Given the description of an element on the screen output the (x, y) to click on. 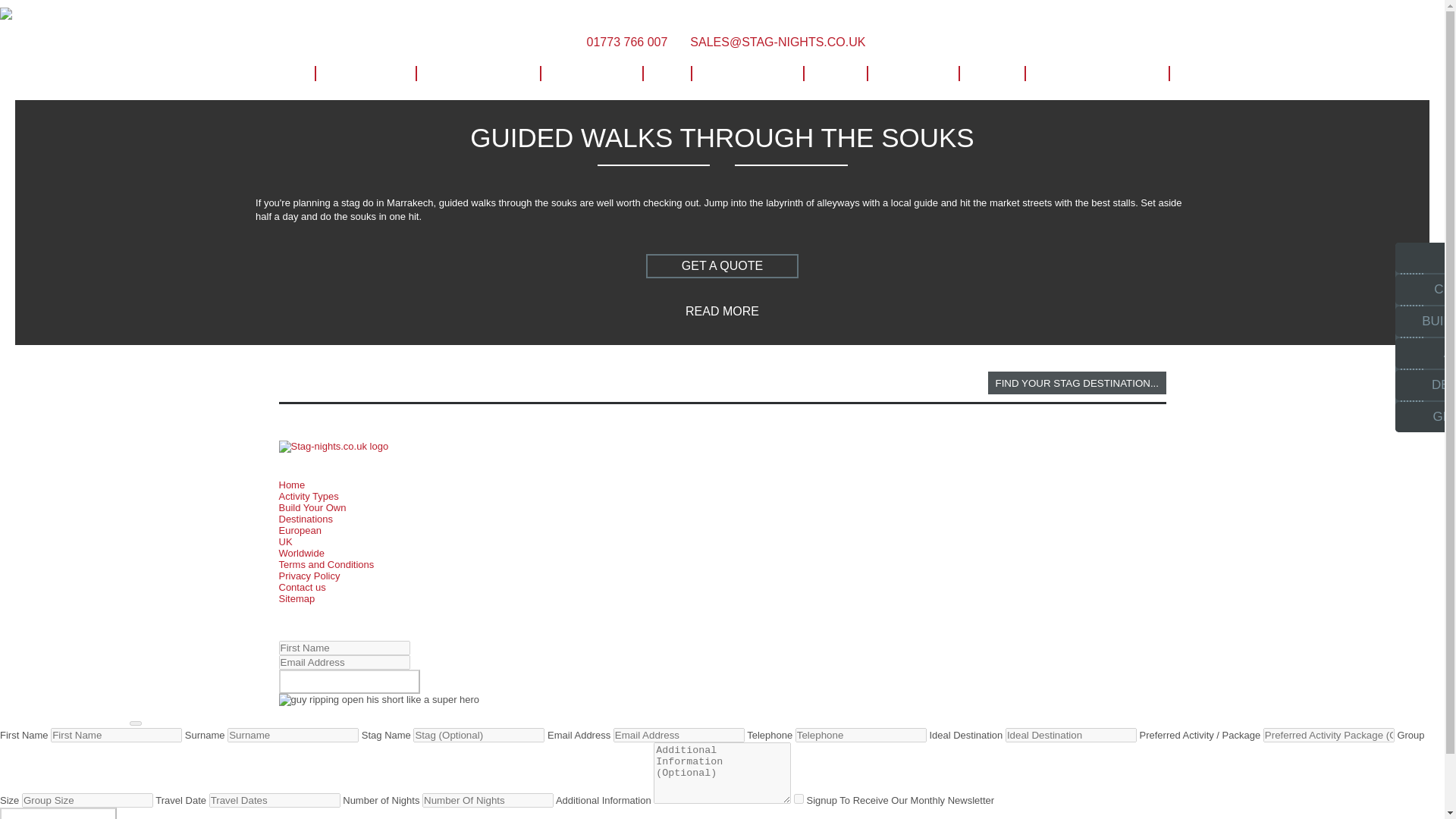
DESTINATIONS (477, 73)
01773 766 007 (623, 42)
EUROPEAN (591, 73)
ACTIVITIES (364, 73)
HOME (280, 73)
1 (798, 798)
